Given the description of an element on the screen output the (x, y) to click on. 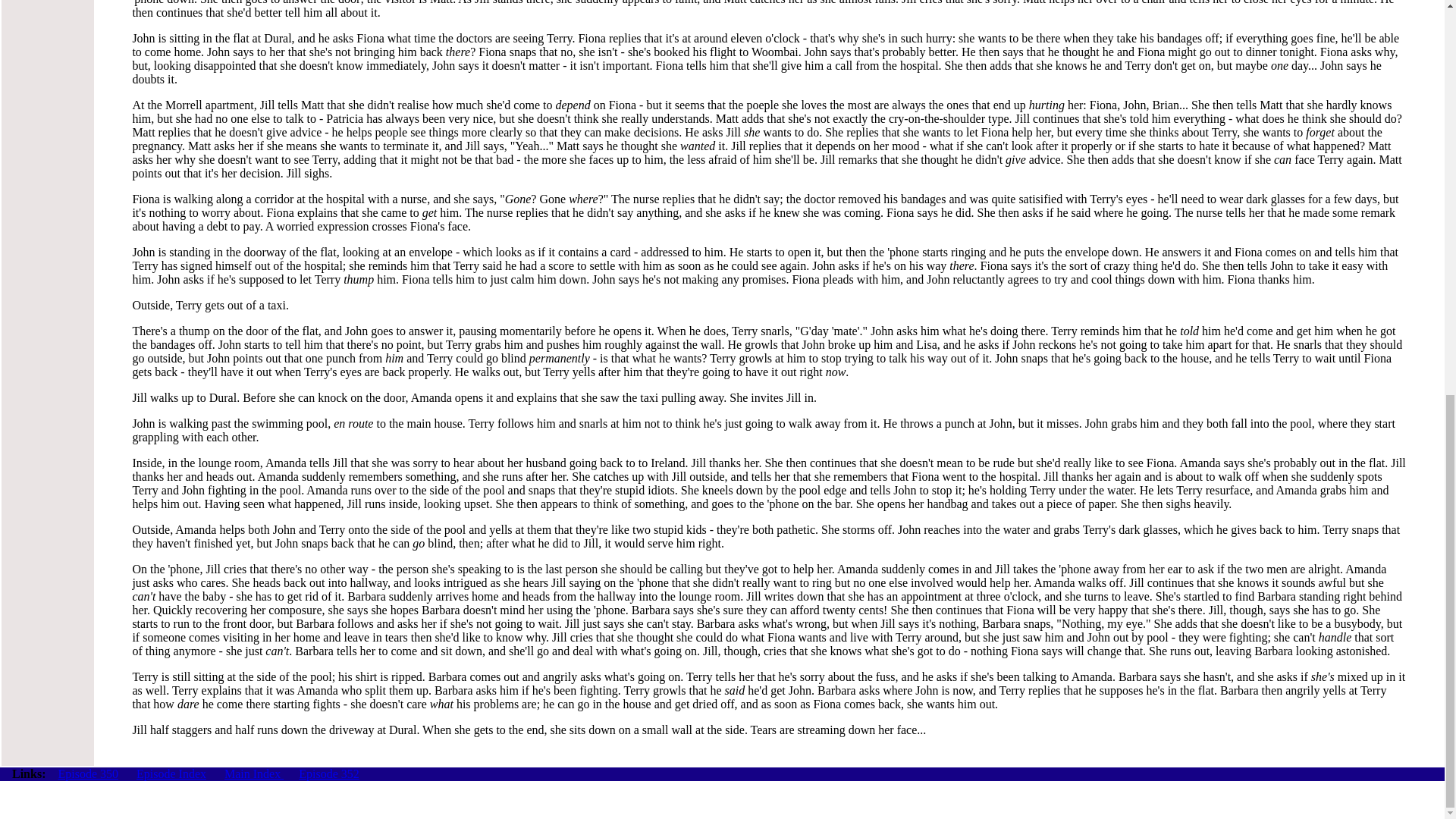
Main Index (253, 773)
Episode Index (171, 773)
Episode 350 (87, 773)
Episode 352 (328, 773)
